Given the description of an element on the screen output the (x, y) to click on. 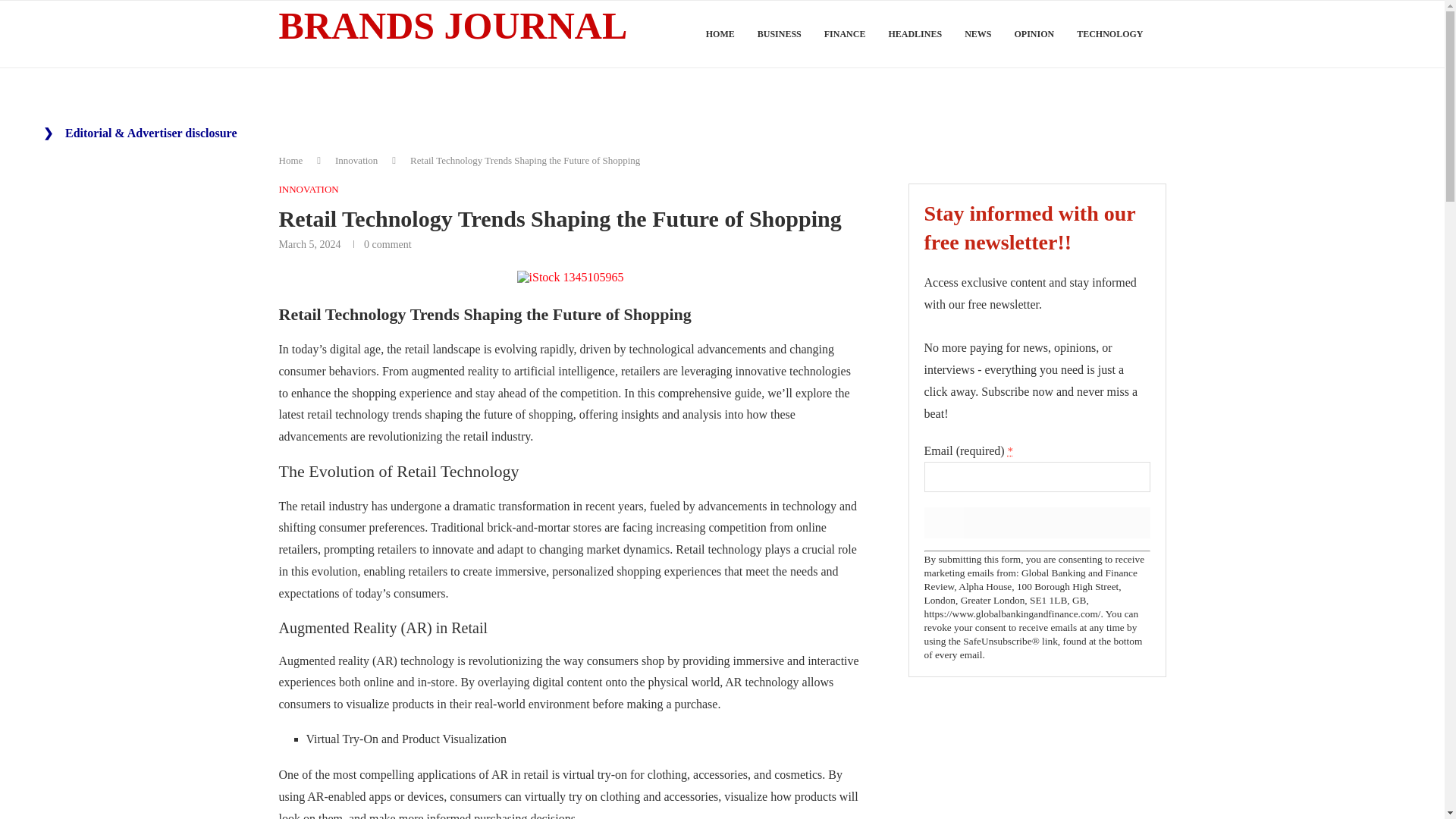
Sign up! (1036, 522)
iStock 1345105965 (570, 277)
Sign up! (1036, 522)
BRANDS JOURNAL (453, 26)
INNOVATION (309, 189)
Innovation (355, 160)
TECHNOLOGY (1109, 33)
Home (290, 160)
